Given the description of an element on the screen output the (x, y) to click on. 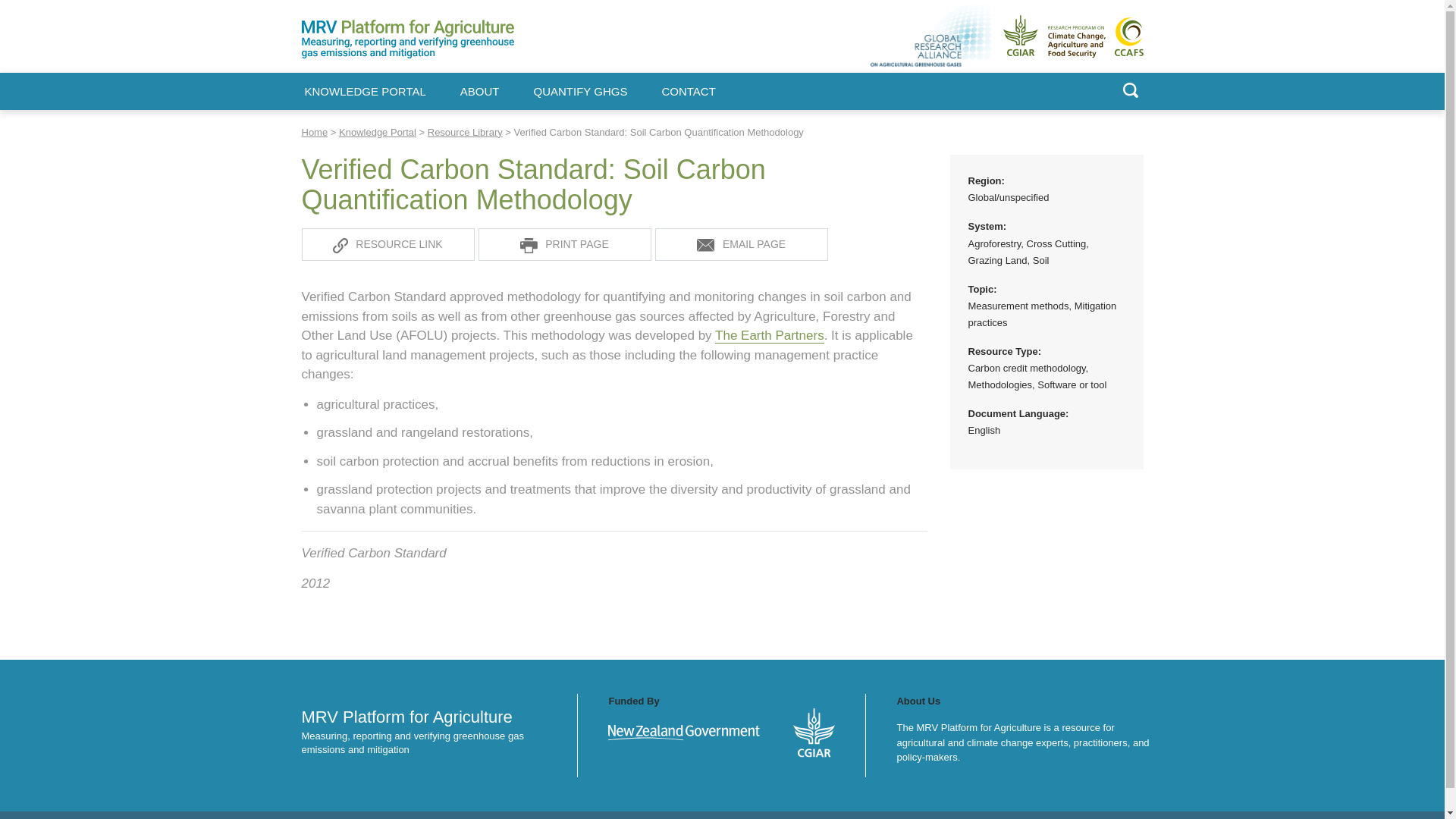
Resource Library (465, 132)
EMAIL PAGE (741, 244)
MRV Platform for Agriculture (382, 67)
Go to Home. (315, 132)
Home (315, 132)
RESOURCE LINK (387, 244)
Search (881, 135)
PRINT PAGE (563, 244)
ABOUT (479, 91)
CONTACT (687, 91)
Go to Knowledge Portal. (377, 132)
Knowledge Portal (377, 132)
QUANTIFY GHGS (580, 91)
agMRV Resource (741, 244)
